Given the description of an element on the screen output the (x, y) to click on. 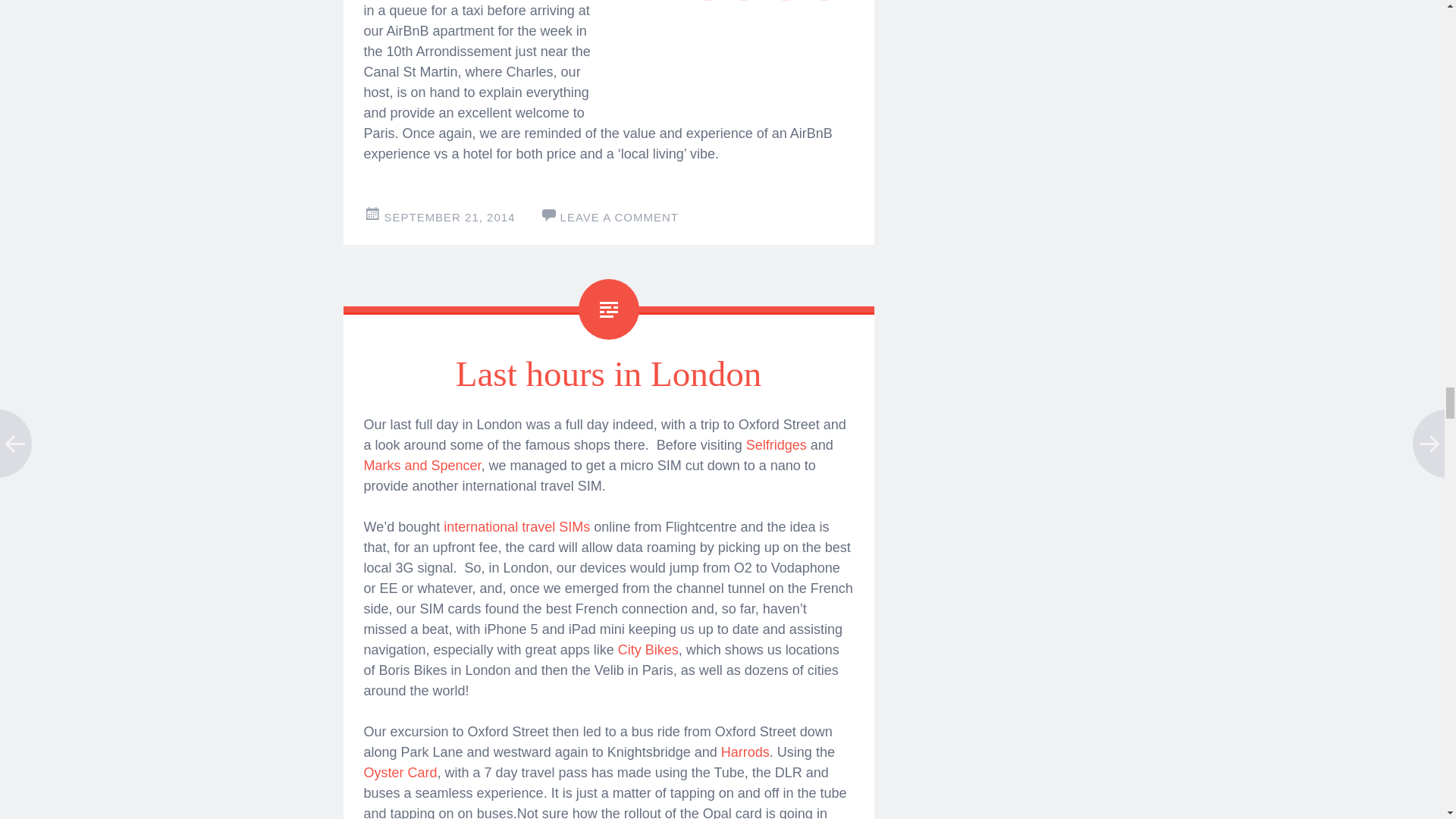
5:14 am (449, 216)
